Given the description of an element on the screen output the (x, y) to click on. 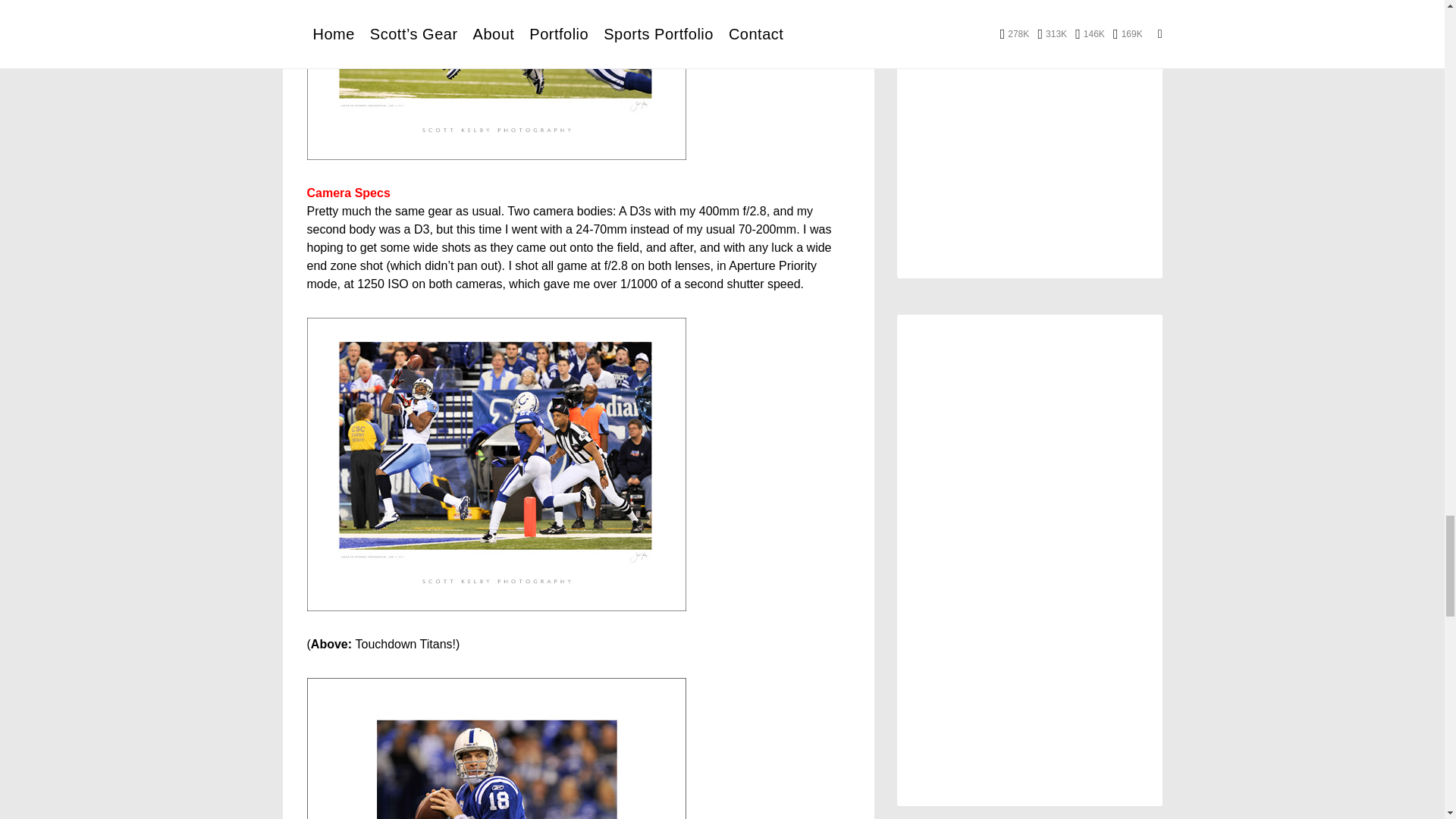
ColtTitans10a (495, 748)
ColtTitans8sm (495, 463)
ColtTitans7sm (495, 79)
